Given the description of an element on the screen output the (x, y) to click on. 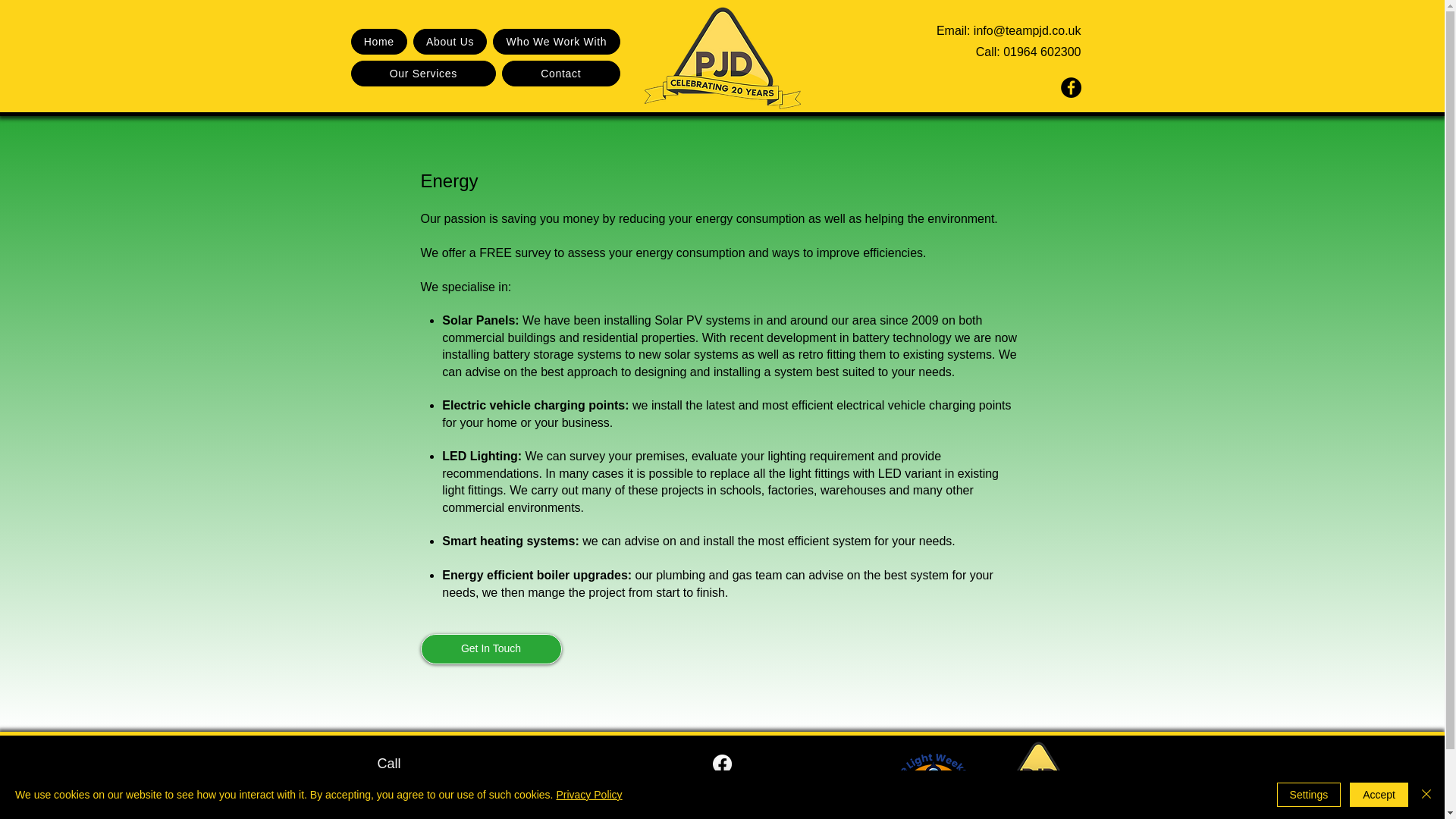
Get In Touch (490, 648)
Privacy Policy (1037, 813)
Contact (561, 73)
About Us (449, 41)
Home (378, 41)
Settings (1308, 794)
Who We Work With (556, 41)
Privacy Policy (588, 794)
Accept (1378, 794)
PJD Logo (1037, 772)
